Given the description of an element on the screen output the (x, y) to click on. 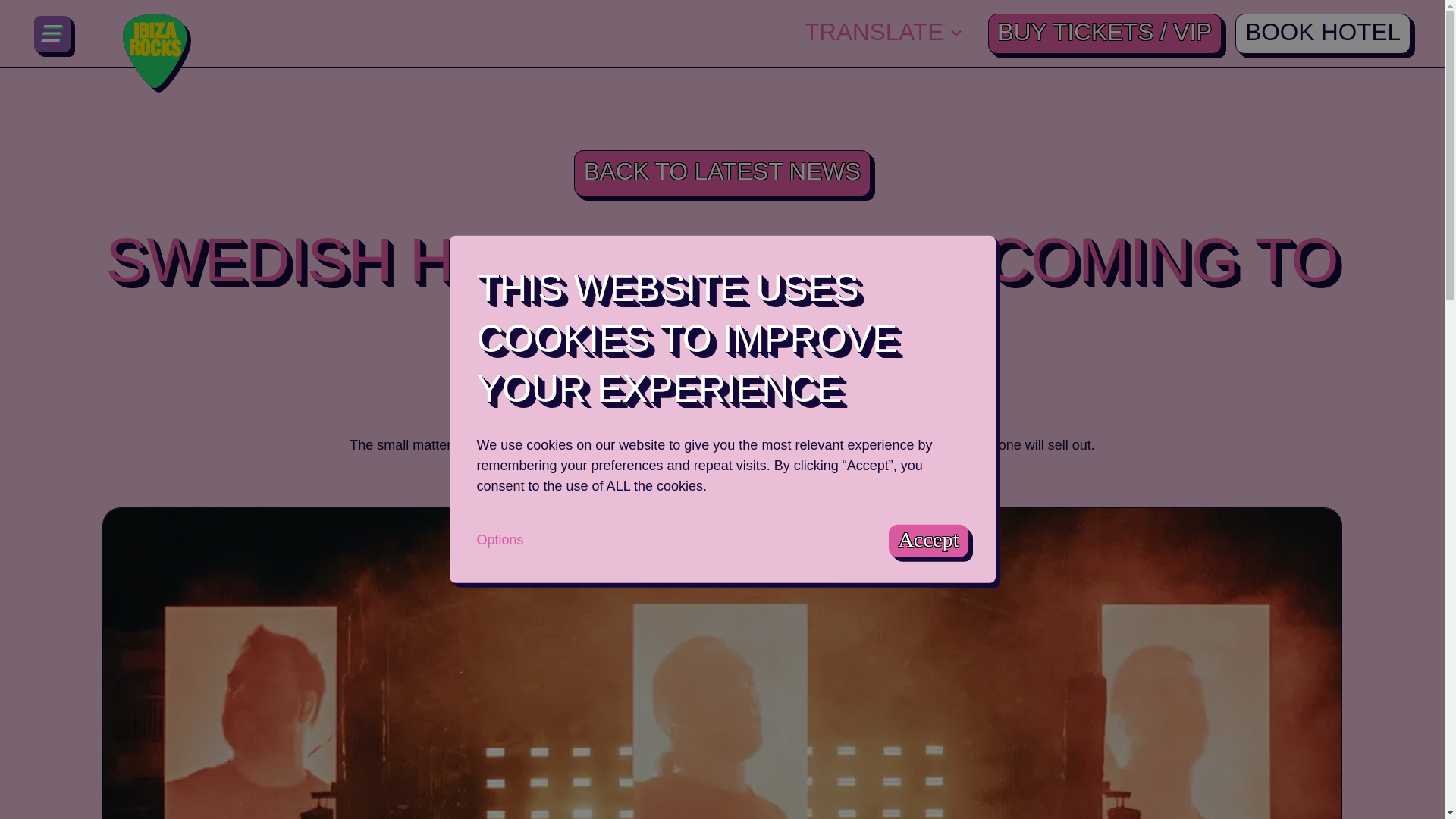
BOOK HOTEL (1322, 33)
BACK TO LATEST NEWS (721, 172)
Toggle menu (51, 33)
Accept (928, 540)
Options (499, 539)
